Given the description of an element on the screen output the (x, y) to click on. 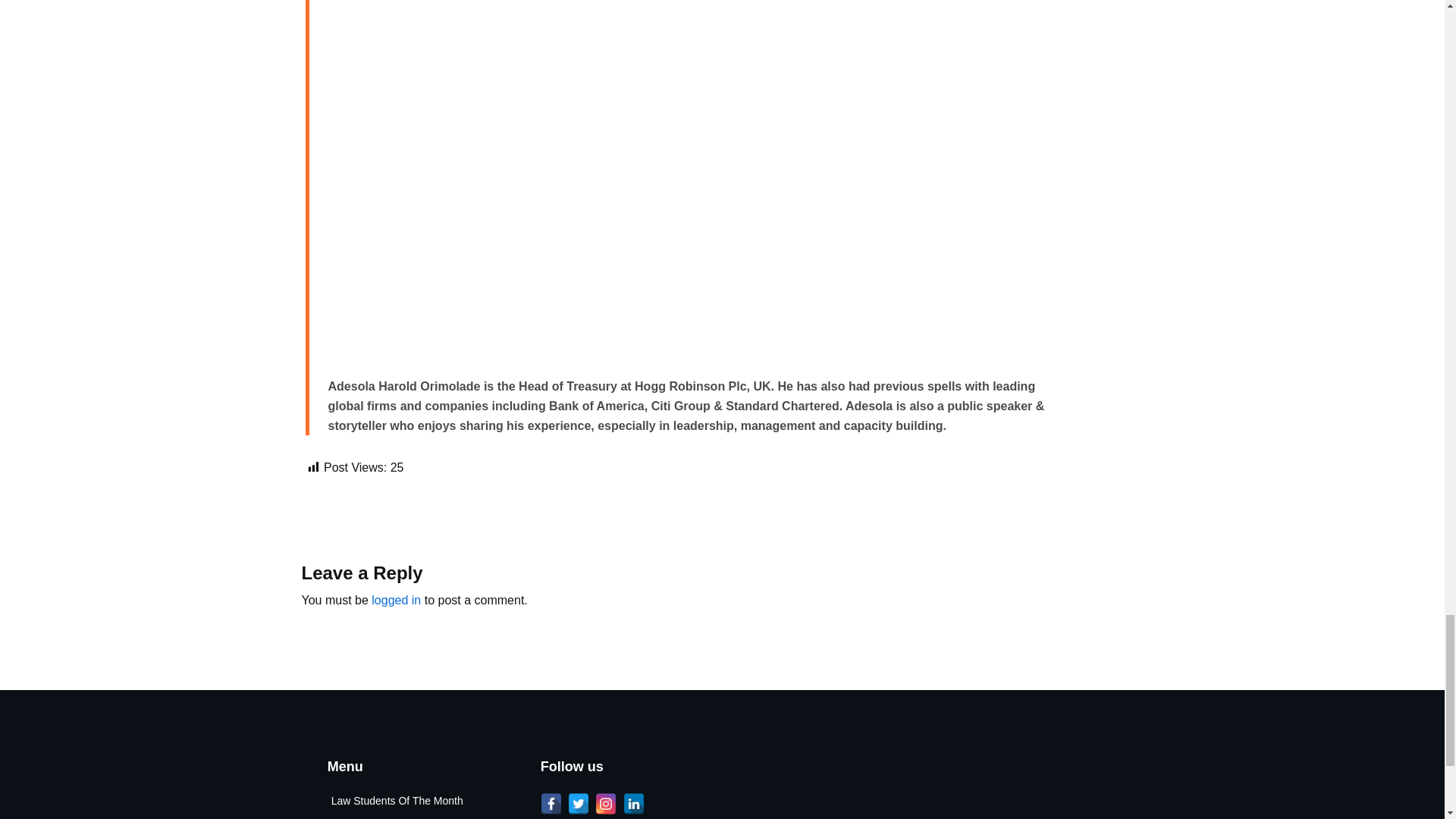
Facebook (551, 803)
Twitter (578, 803)
LinkedIn (634, 803)
Instagram (605, 803)
Law Students Of The Month (411, 801)
logged in (395, 599)
